Given the description of an element on the screen output the (x, y) to click on. 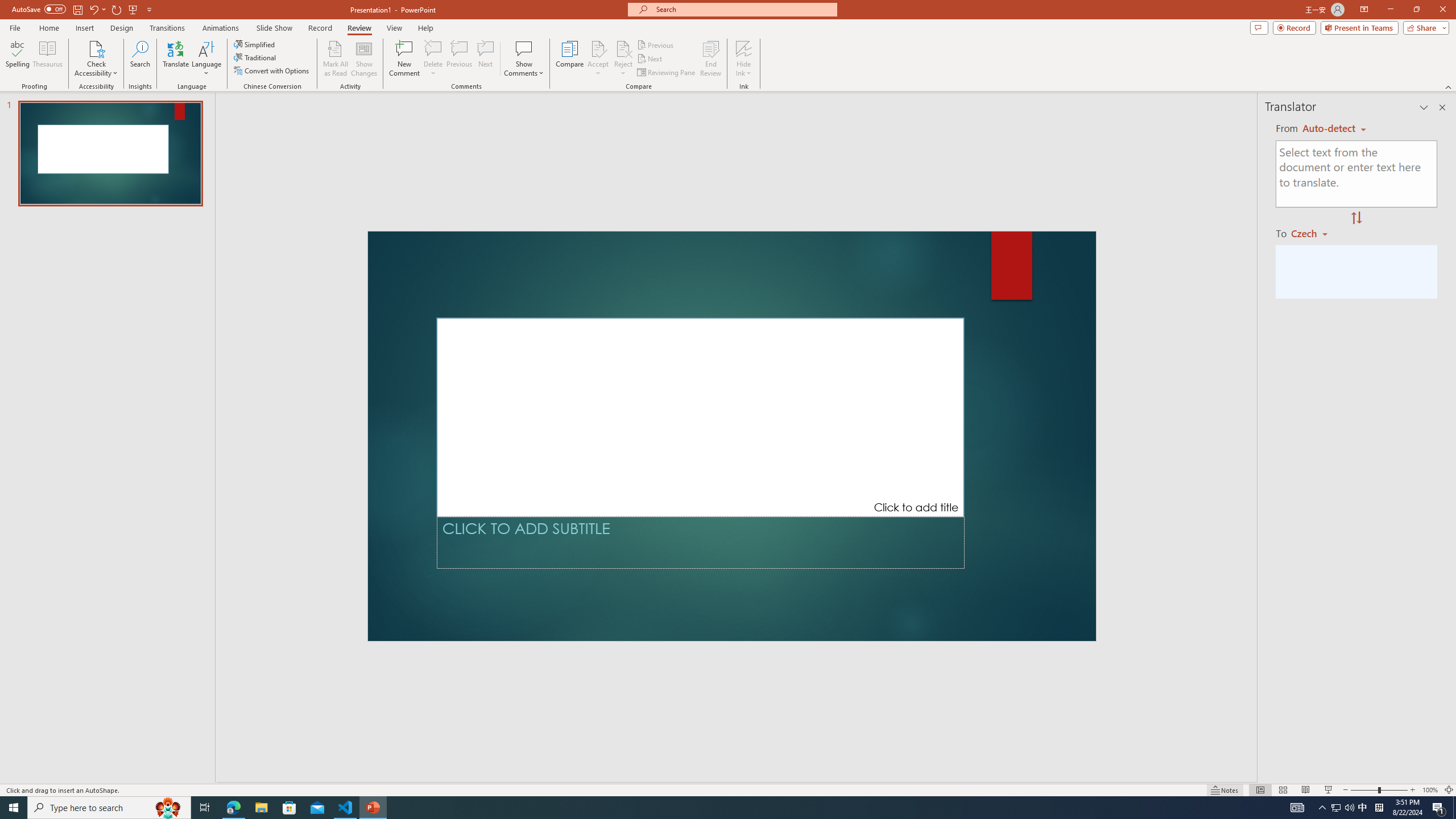
Spelling... (17, 58)
Simplified (254, 44)
